Given the description of an element on the screen output the (x, y) to click on. 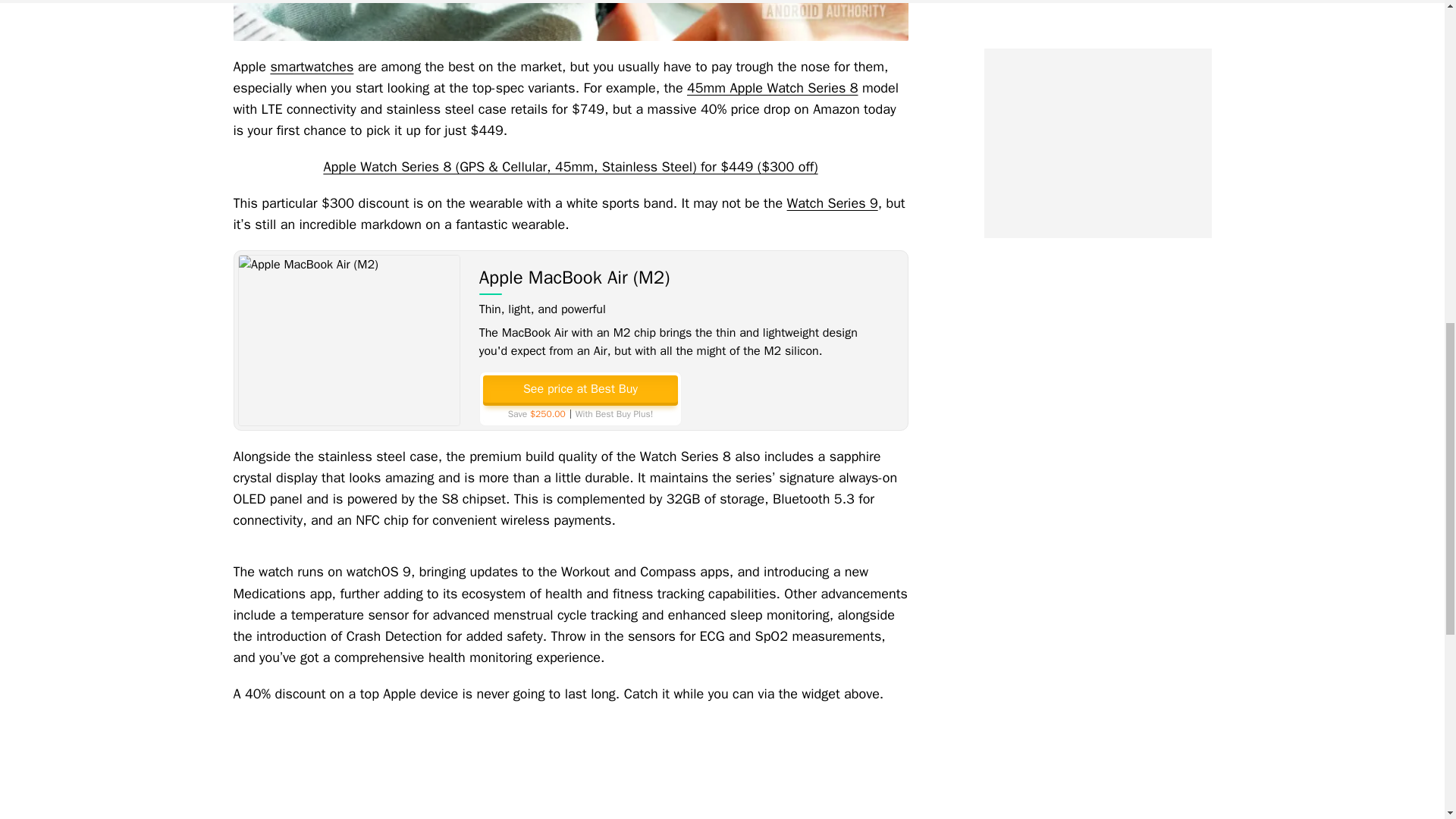
Apple Watch Series 8 touchscreen (570, 20)
smartwatches (311, 66)
Watch Series 9 (832, 202)
See price at Best Buy (579, 388)
45mm Apple Watch Series 8 (772, 87)
